Given the description of an element on the screen output the (x, y) to click on. 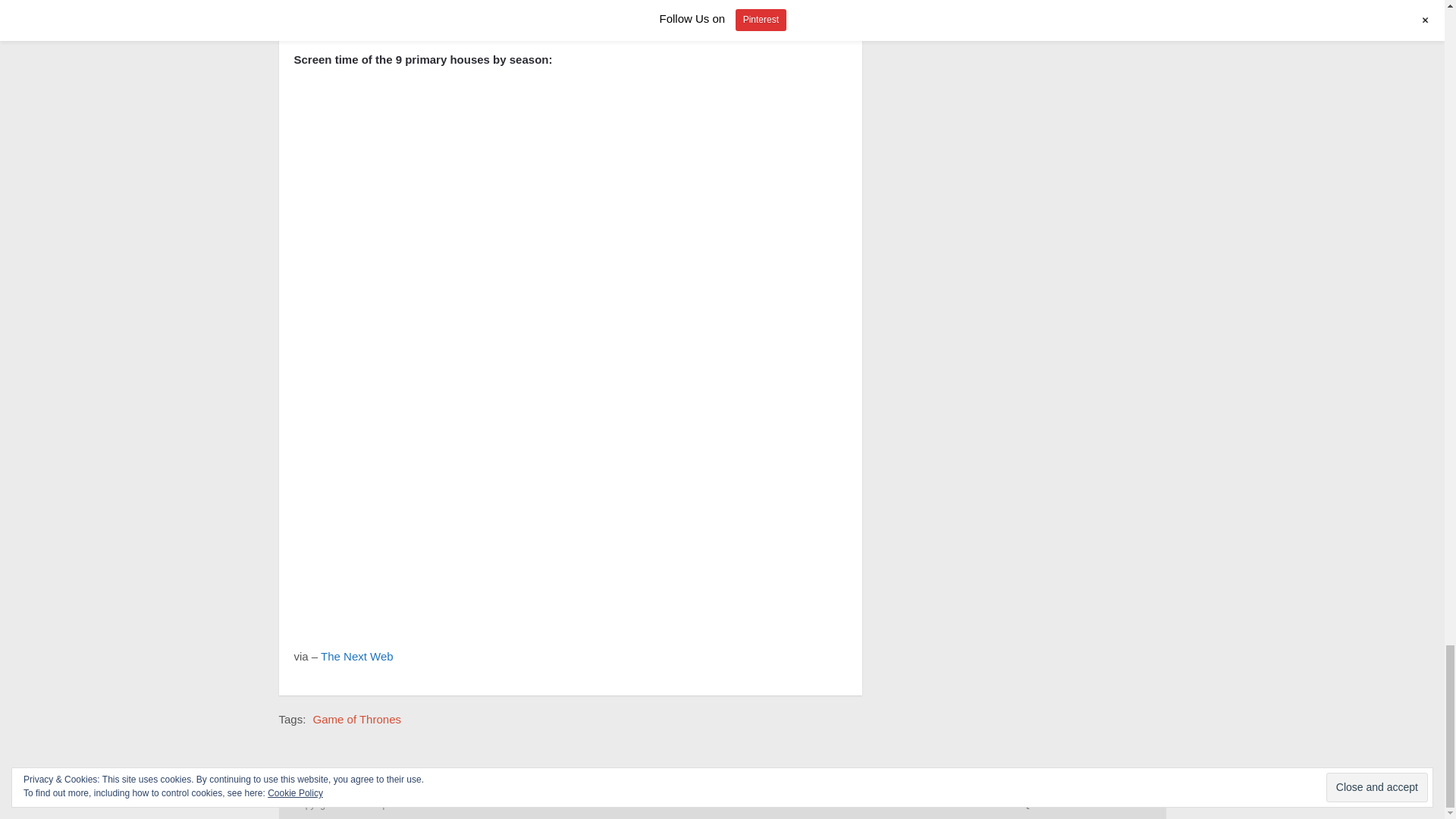
GraphicsPedia  (397, 804)
Destination For Best Infographics (397, 804)
Game of Thrones (357, 718)
PRIVACY POLICY (1115, 805)
The Next Web (356, 656)
